Given the description of an element on the screen output the (x, y) to click on. 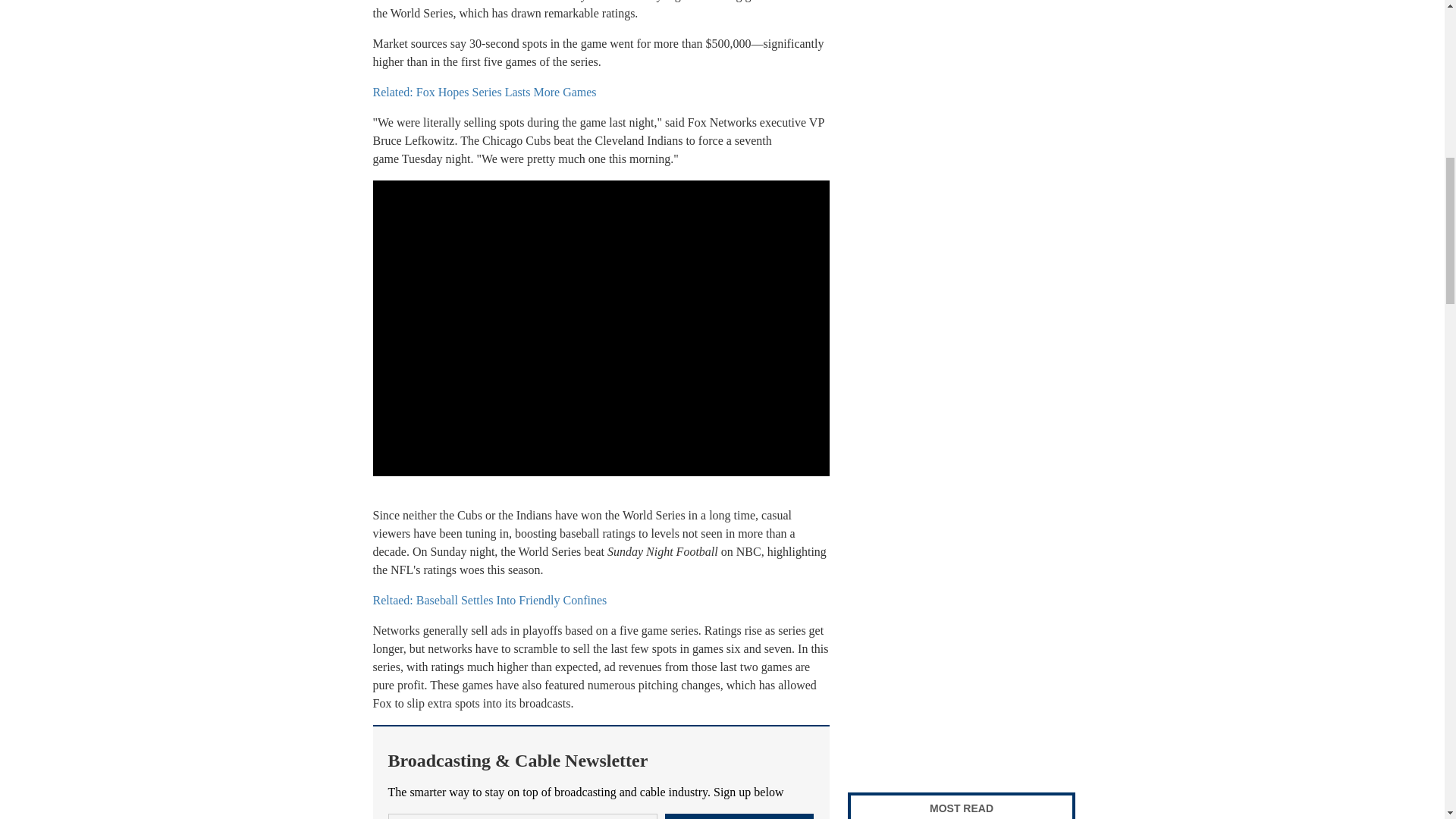
Related: Fox Hopes Series Lasts More Games (484, 91)
Sign me up (739, 816)
Sign me up (739, 816)
Reltaed: Baseball Settles Into Friendly Confines (489, 599)
